Given the description of an element on the screen output the (x, y) to click on. 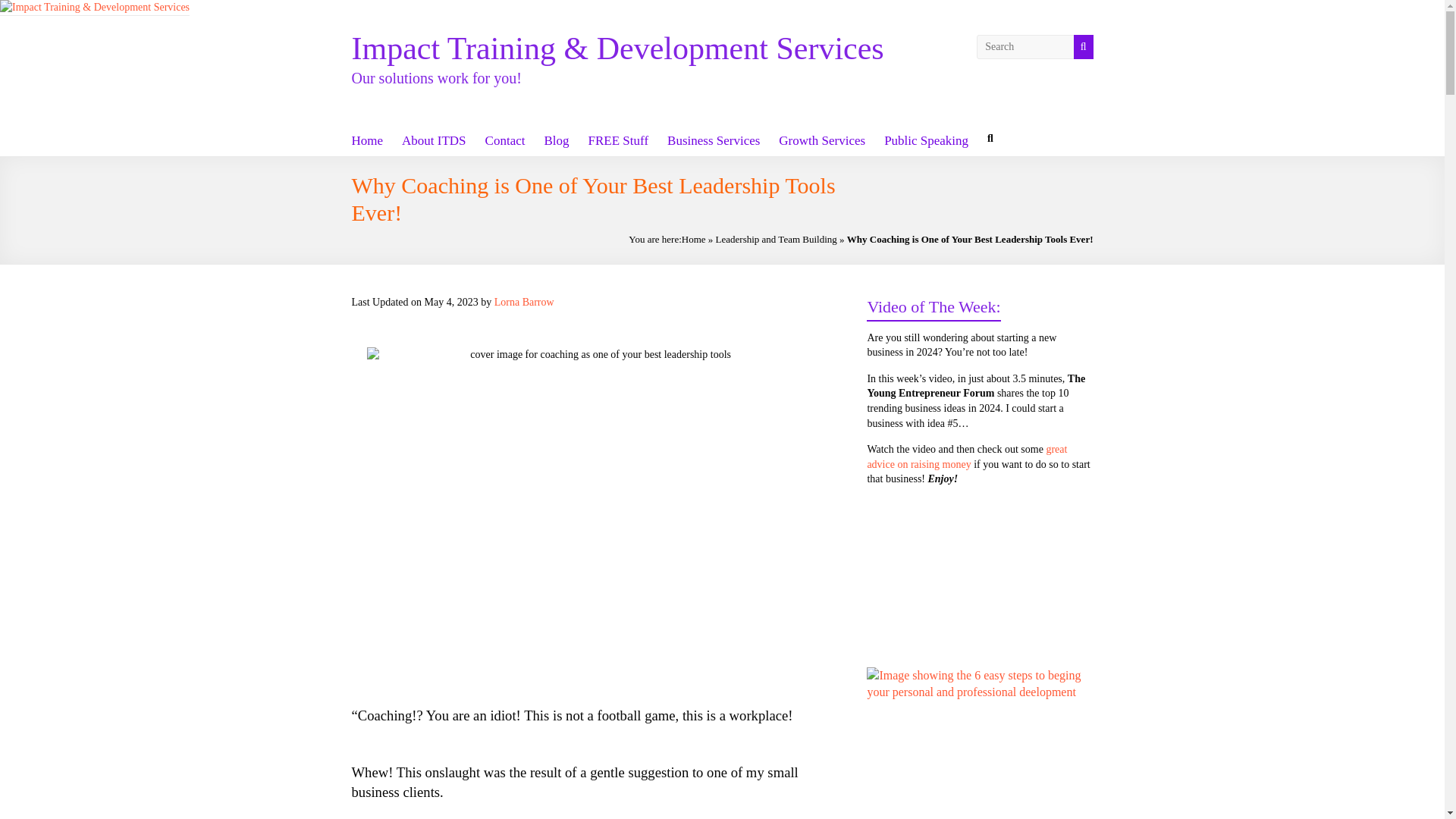
About ITDS (433, 140)
Lorna Barrow (524, 301)
Public Speaking (925, 140)
Business Services (713, 140)
Growth Services (821, 140)
Contact (504, 140)
Blog (556, 140)
Home (693, 238)
Is working from home for you?  (979, 743)
Home (368, 140)
Leadership and Team Building (776, 238)
FREE Stuff (618, 140)
